Given the description of an element on the screen output the (x, y) to click on. 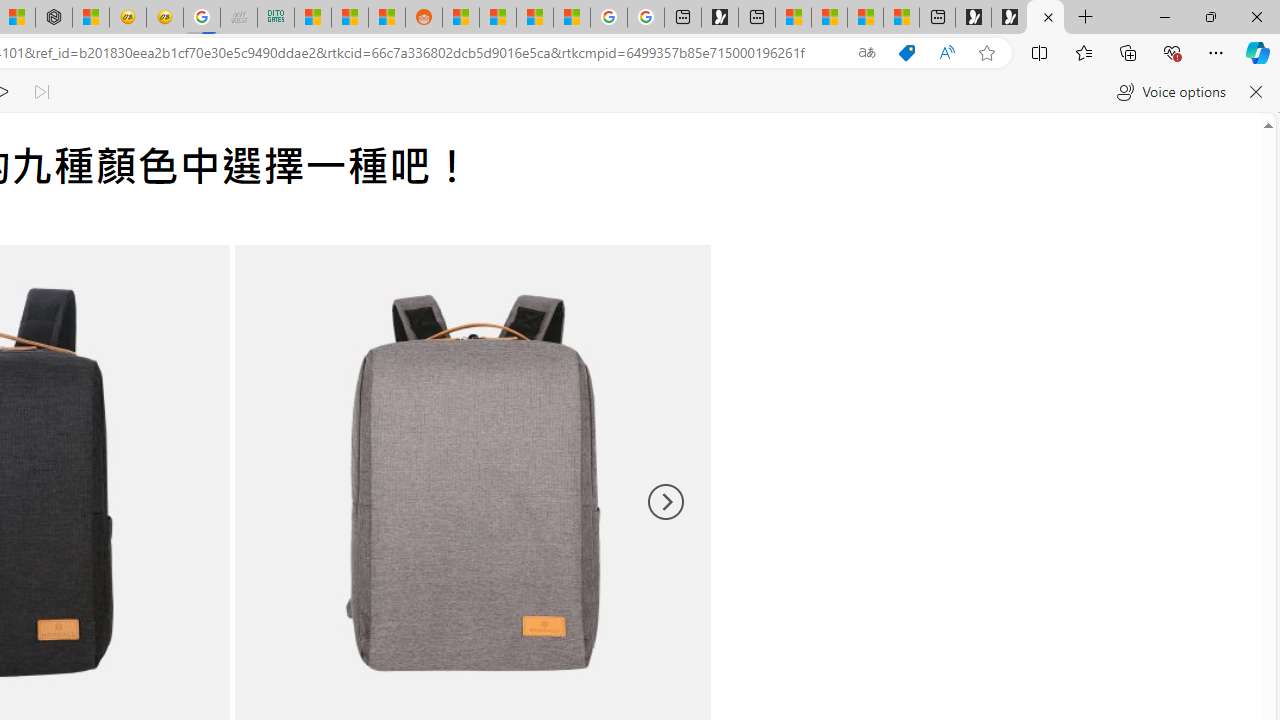
Show translate options (867, 53)
Nordace - #1 Japanese Best-Seller - Siena Smart Backpack (53, 17)
R******* | Trusted Community Engagement and Contributions (460, 17)
Next (664, 501)
Class: flickity-button-icon (664, 502)
